Given the description of an element on the screen output the (x, y) to click on. 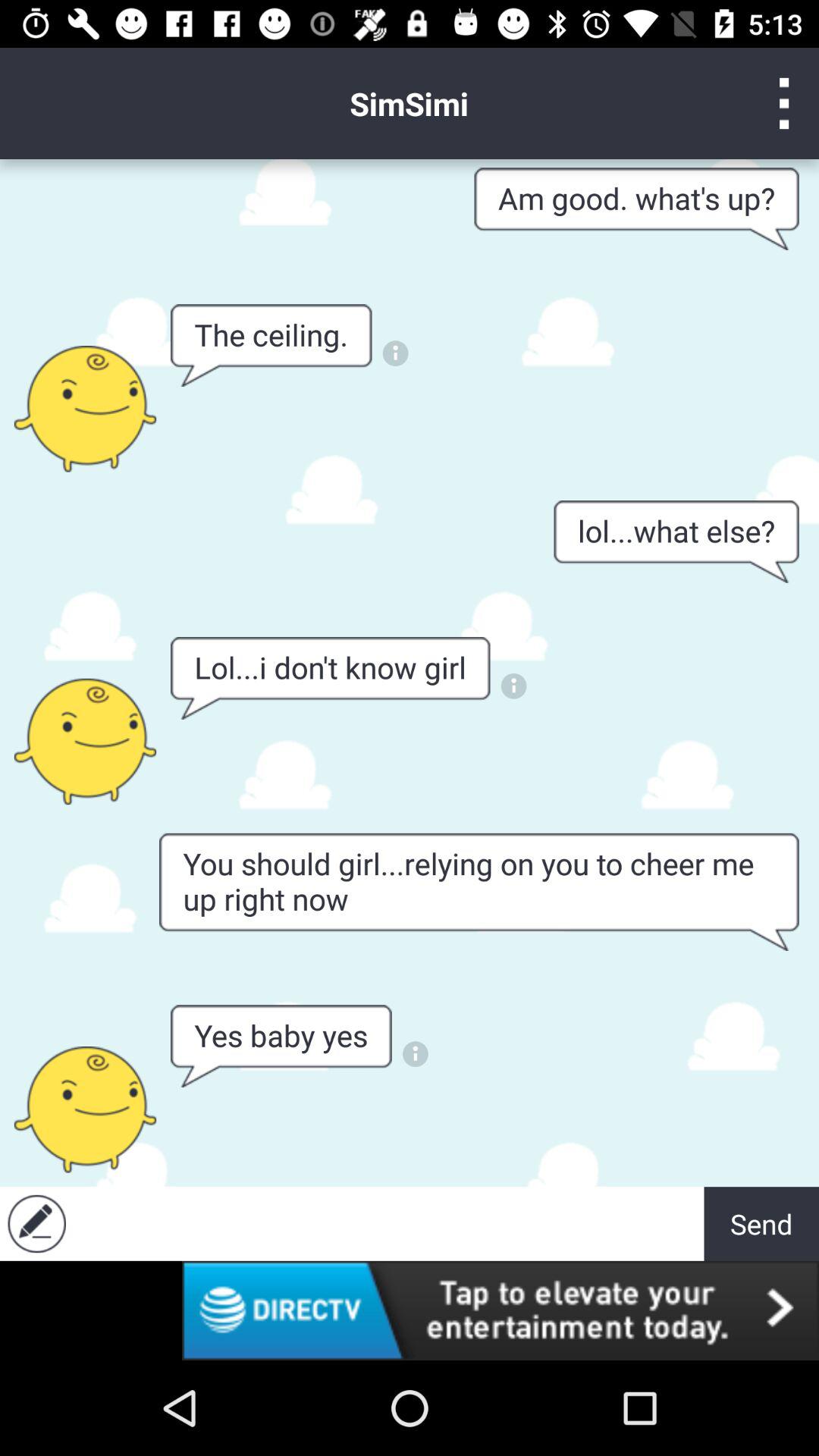
view person 's info (85, 741)
